Given the description of an element on the screen output the (x, y) to click on. 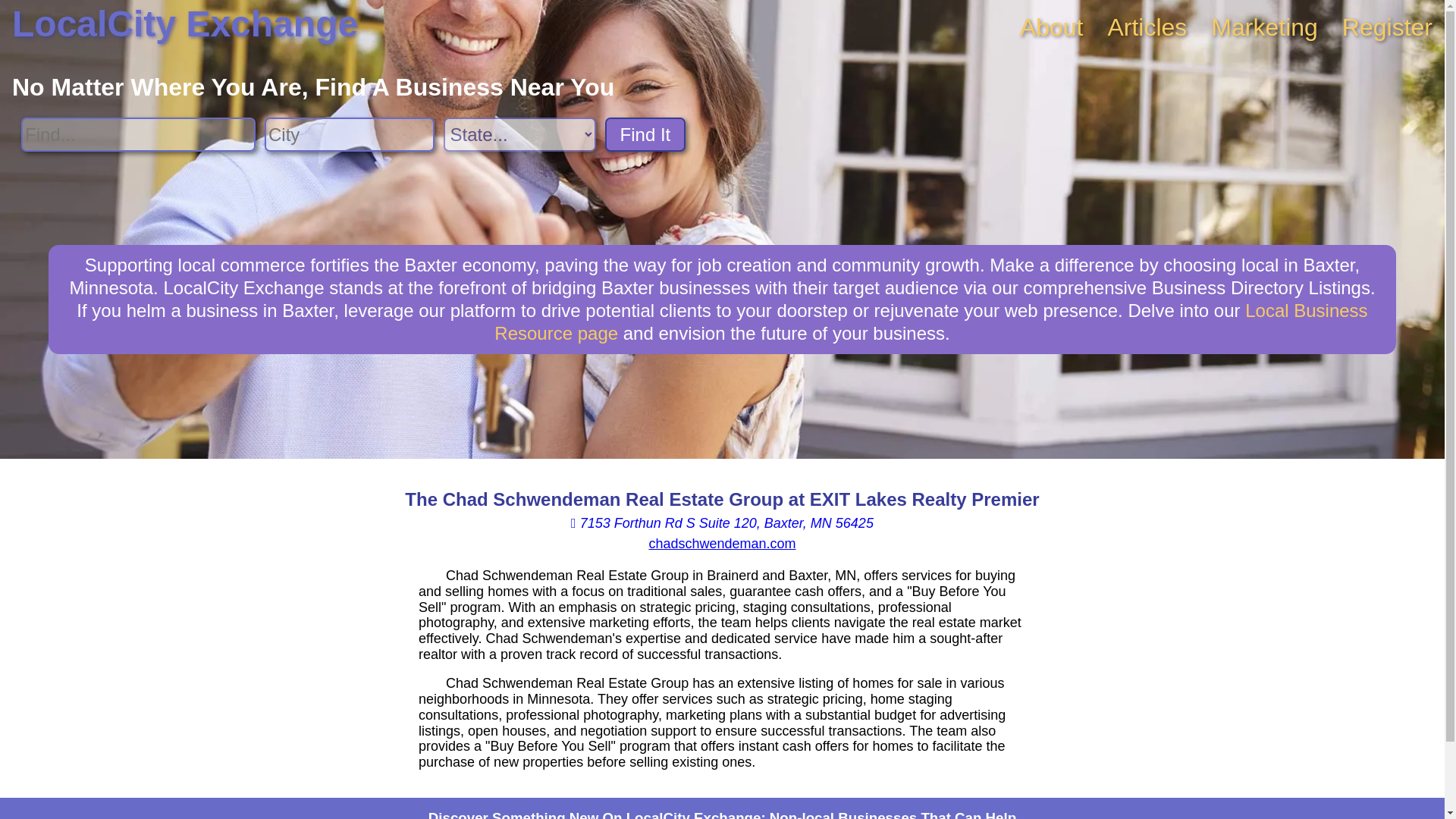
About (1051, 27)
About LocalCity Exchange (1051, 27)
Register My Business (1387, 27)
LocalCity Exchange (184, 24)
Local Business Resources (931, 321)
chadschwendeman.com (720, 543)
Articles (1146, 27)
Register (1387, 27)
Local Business Resource page (931, 321)
Business Marketing Opportunites (1264, 27)
Marketing (1264, 27)
Articles (1146, 27)
View on Google Maps (721, 523)
Visit chadschwendeman.com (720, 543)
Find It (645, 134)
